Given the description of an element on the screen output the (x, y) to click on. 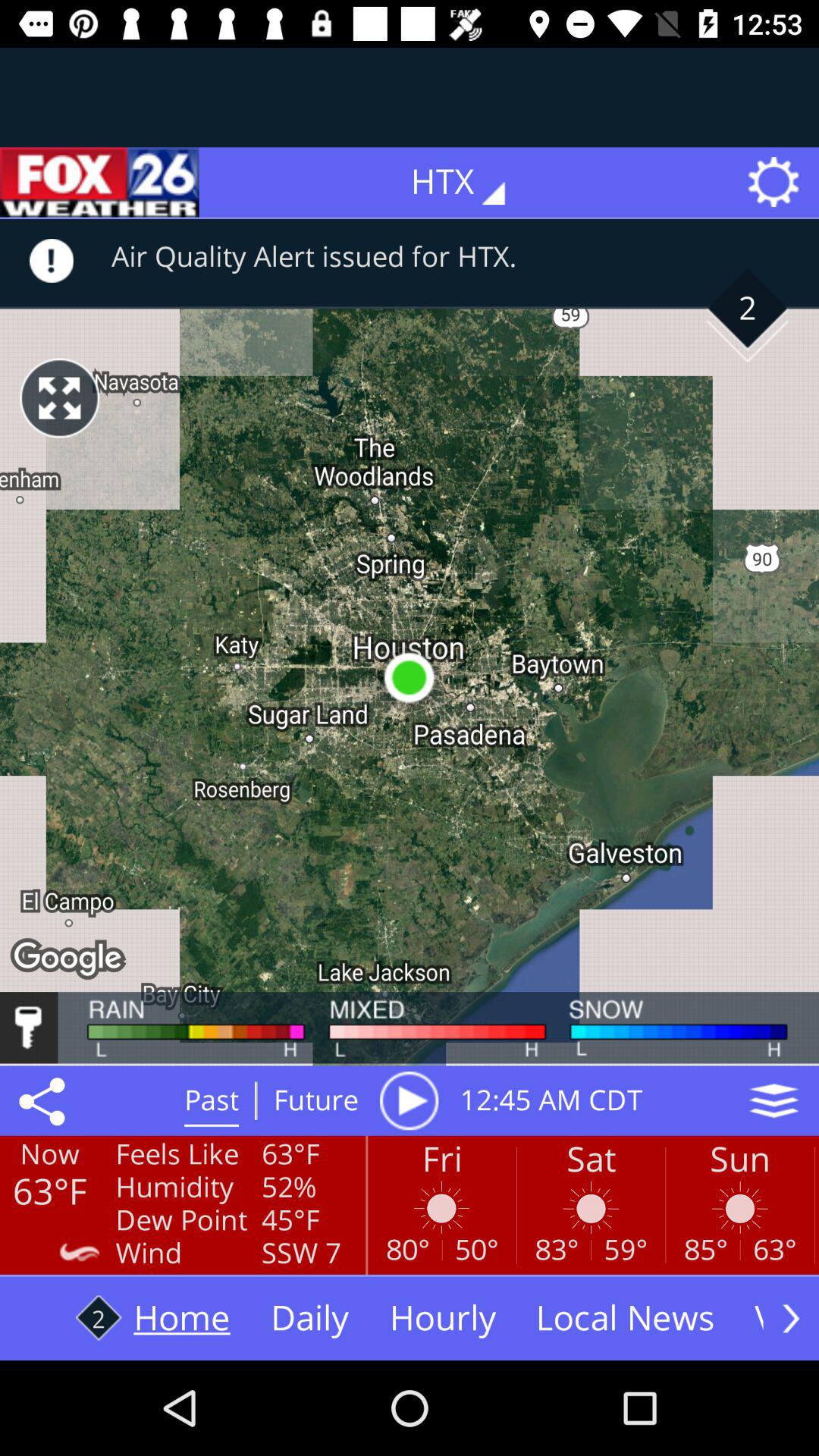
select icon to the right of video item (791, 1318)
